Given the description of an element on the screen output the (x, y) to click on. 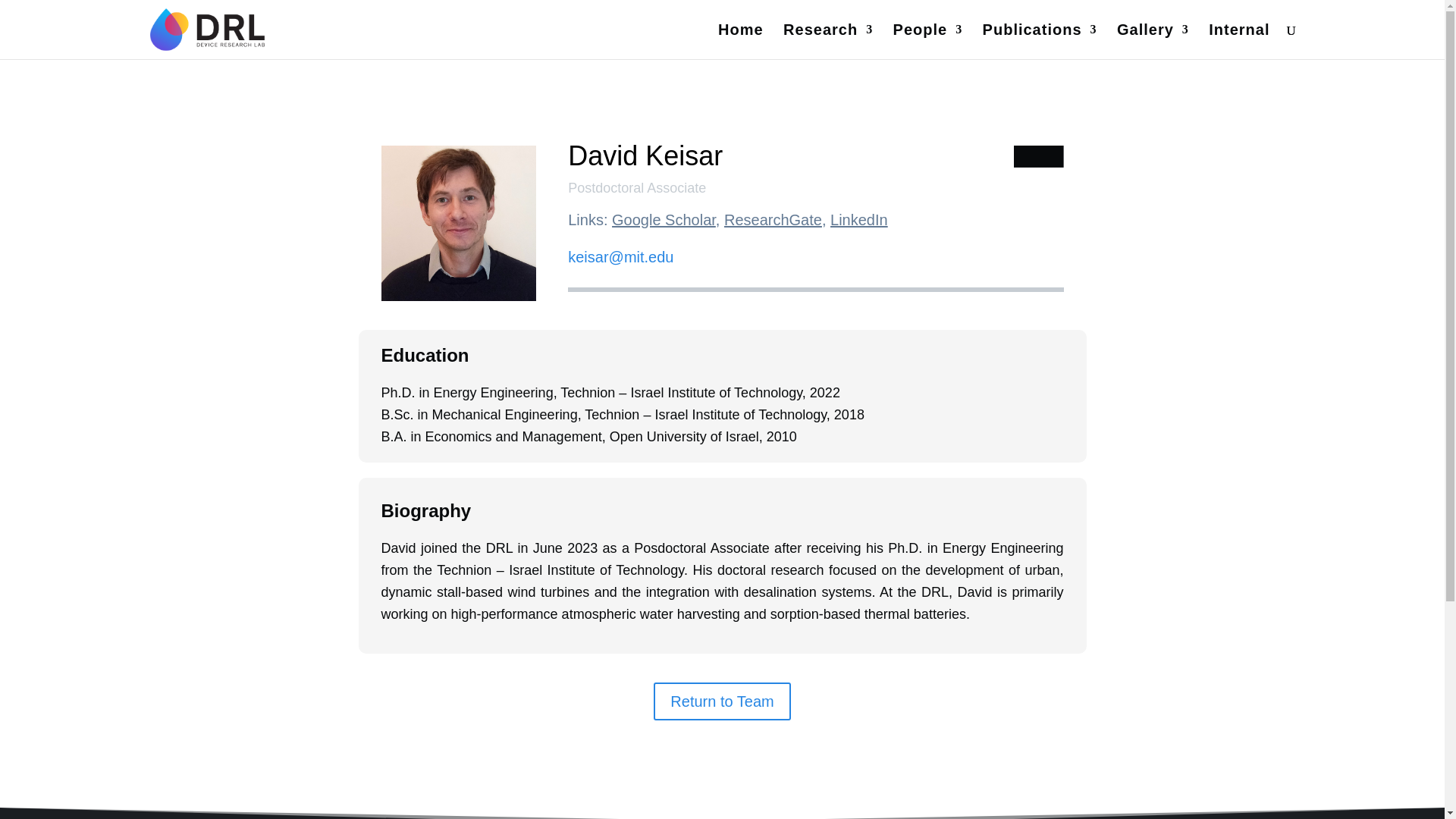
Home (739, 41)
ResearchGate (772, 219)
Gallery (1152, 41)
Google Scholar (663, 219)
DavidKeisar-2 (457, 223)
People (927, 41)
Internal (1238, 41)
LinkedIn (858, 219)
Research (827, 41)
Publications (1039, 41)
